Given the description of an element on the screen output the (x, y) to click on. 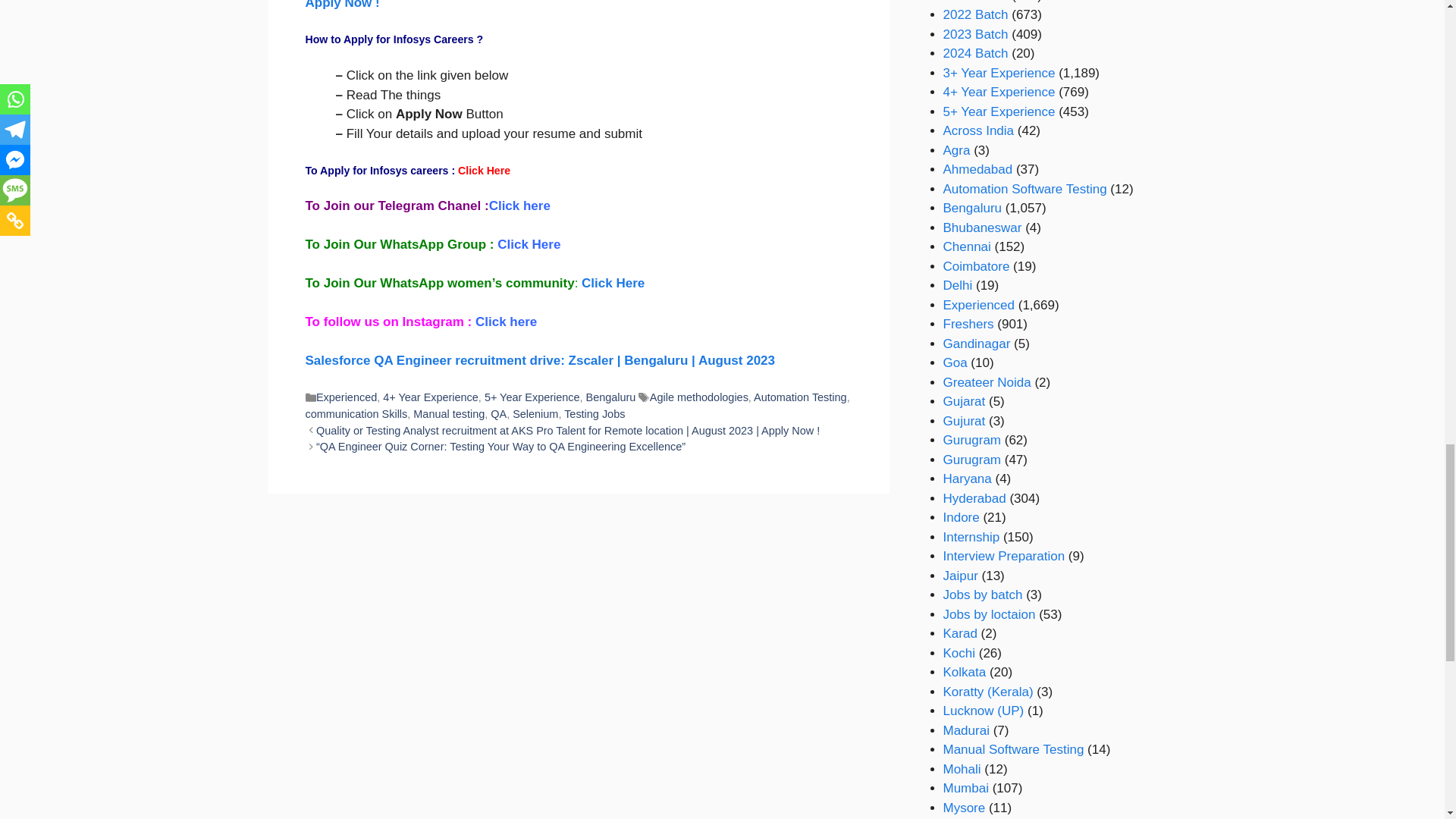
Click Here (528, 244)
Click here (519, 205)
infosys (484, 170)
Click Here (484, 170)
Click Here (612, 283)
